Given the description of an element on the screen output the (x, y) to click on. 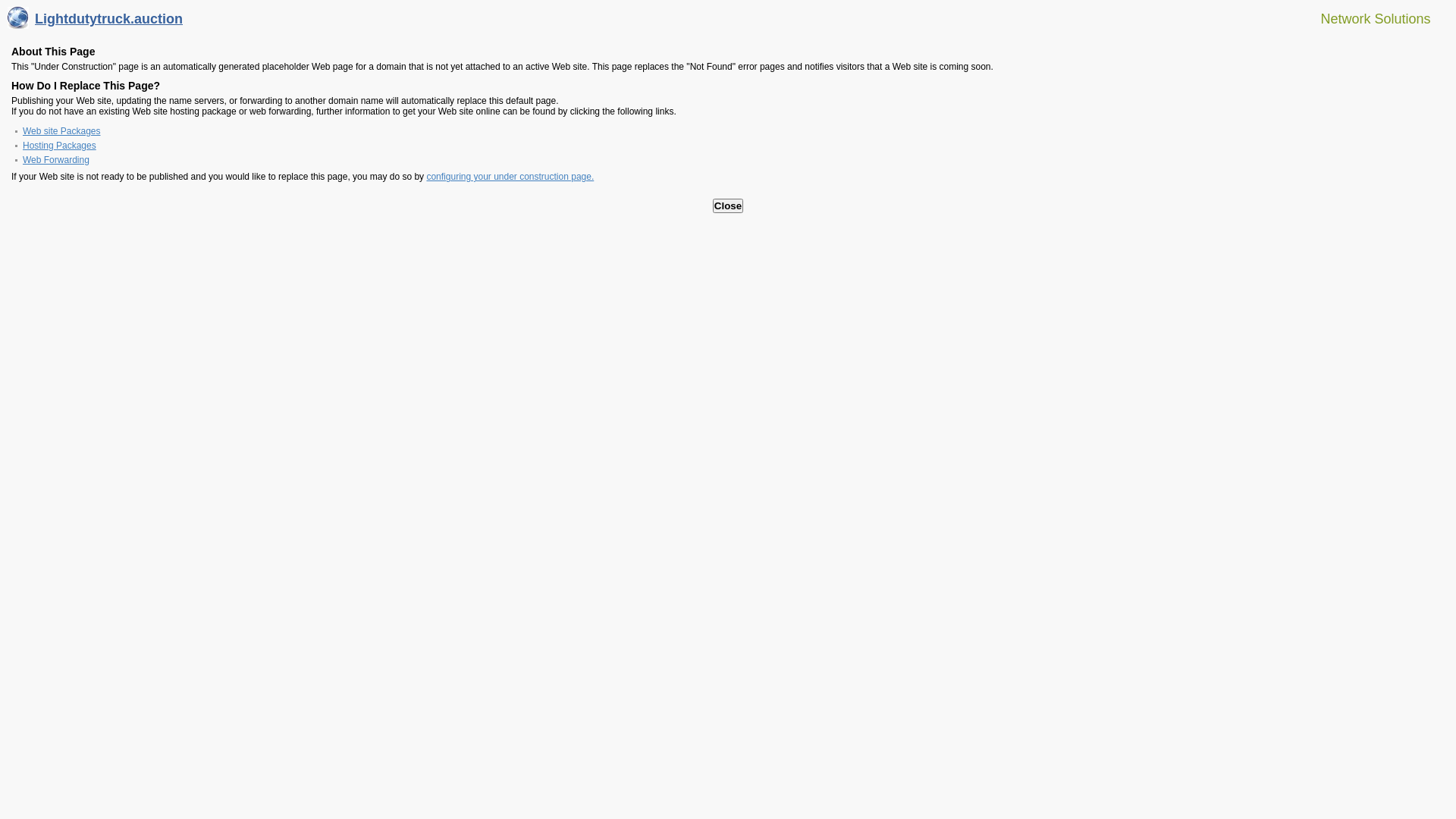
Network Solutions Element type: text (1366, 17)
Lightdutytruck.auction Element type: text (94, 21)
configuring your under construction page. Element type: text (509, 176)
Close Element type: text (727, 205)
